Given the description of an element on the screen output the (x, y) to click on. 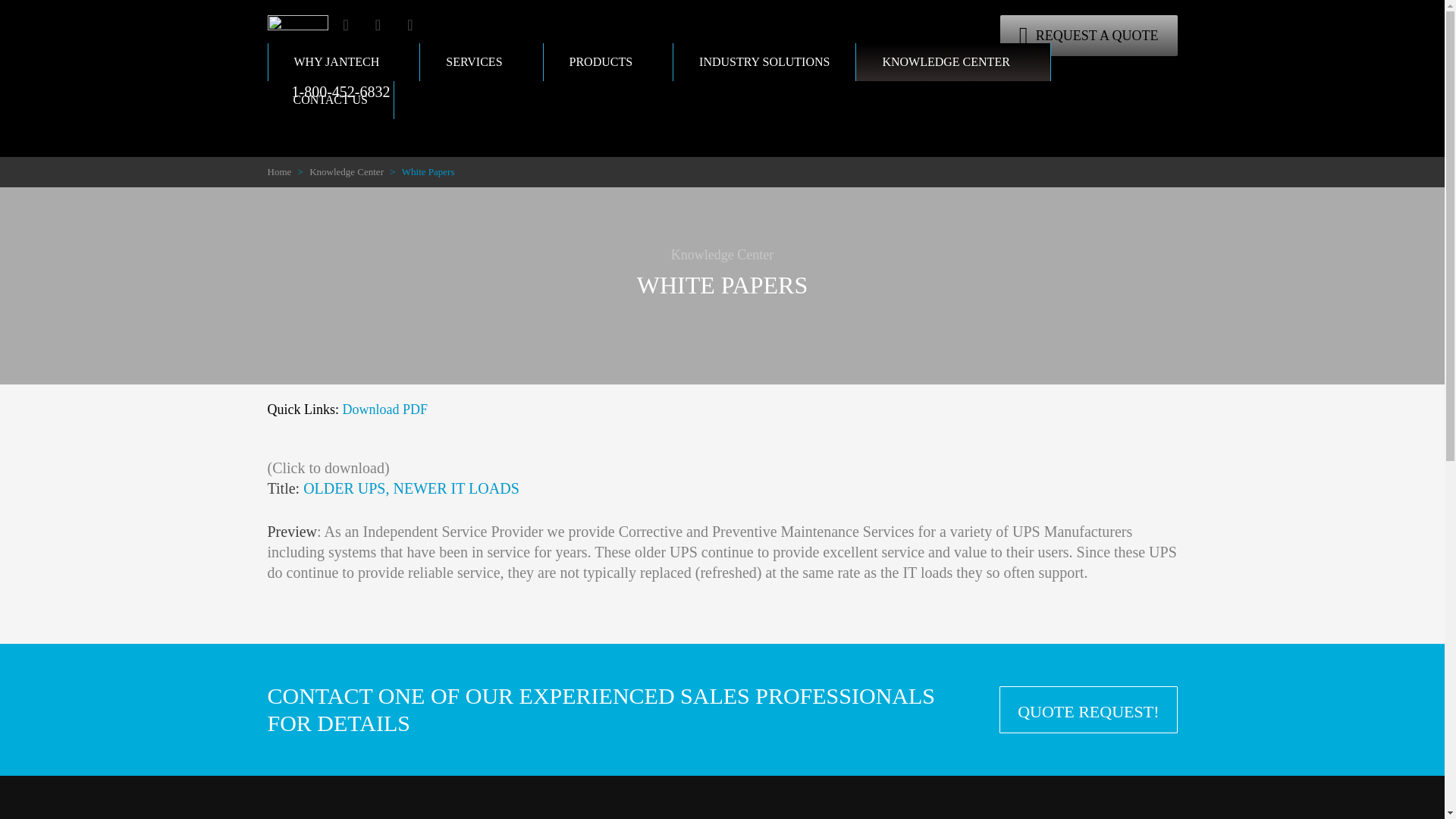
REQUEST A QUOTE (1088, 35)
1-800-452-6832 (328, 91)
PRODUCTS (608, 62)
INDUSTRY SOLUTIONS (764, 62)
SERVICES (481, 62)
WHY JANTECH (343, 62)
KNOWLEDGE CENTER (952, 62)
